Given the description of an element on the screen output the (x, y) to click on. 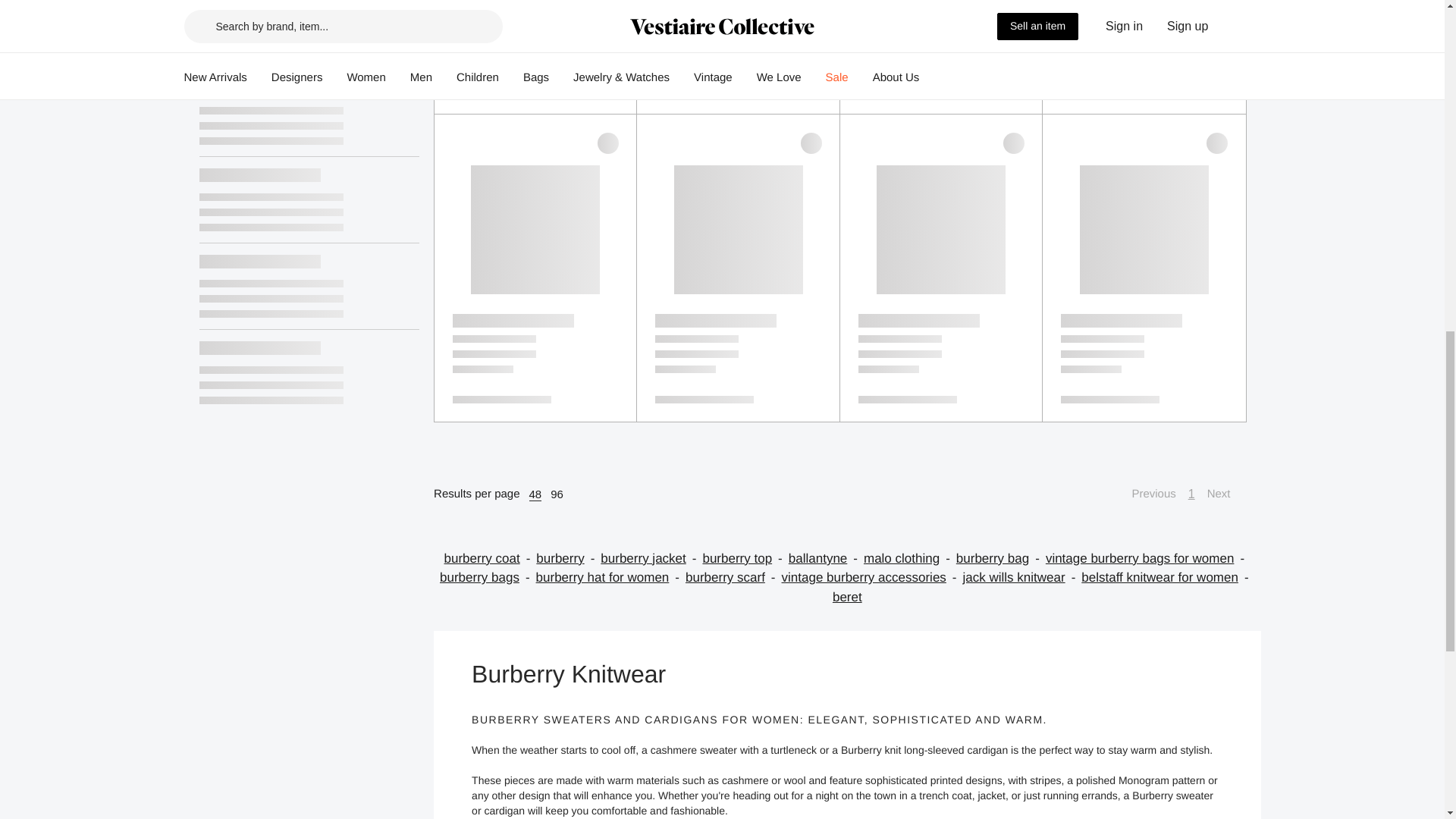
Next (1226, 494)
burberry coat (490, 558)
Previous (1145, 494)
burberry (567, 558)
48 (535, 494)
96 (556, 494)
